Given the description of an element on the screen output the (x, y) to click on. 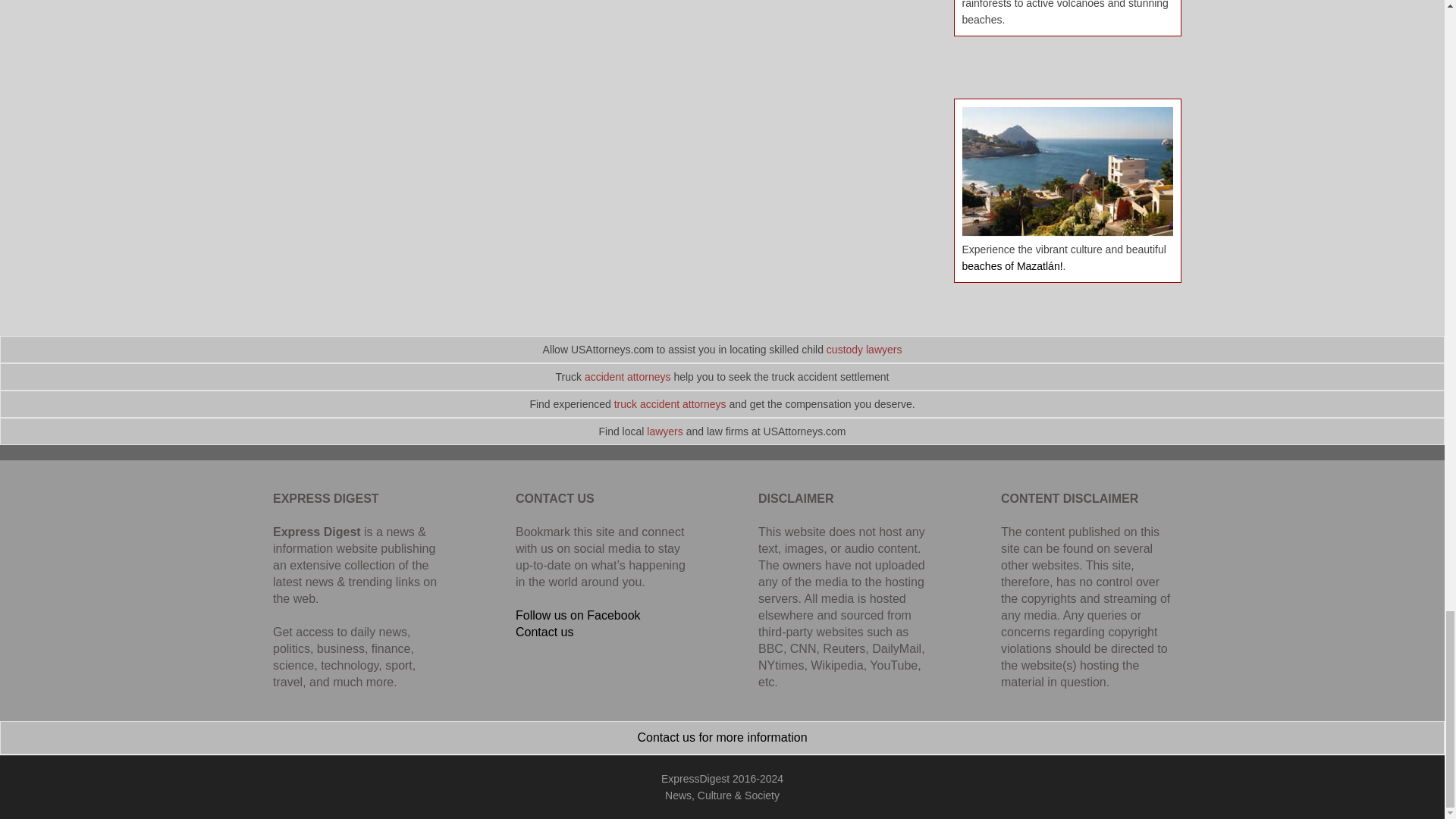
lawyers (664, 431)
truck accident attorneys (670, 404)
custody lawyers (864, 349)
accident attorneys (628, 377)
